Given the description of an element on the screen output the (x, y) to click on. 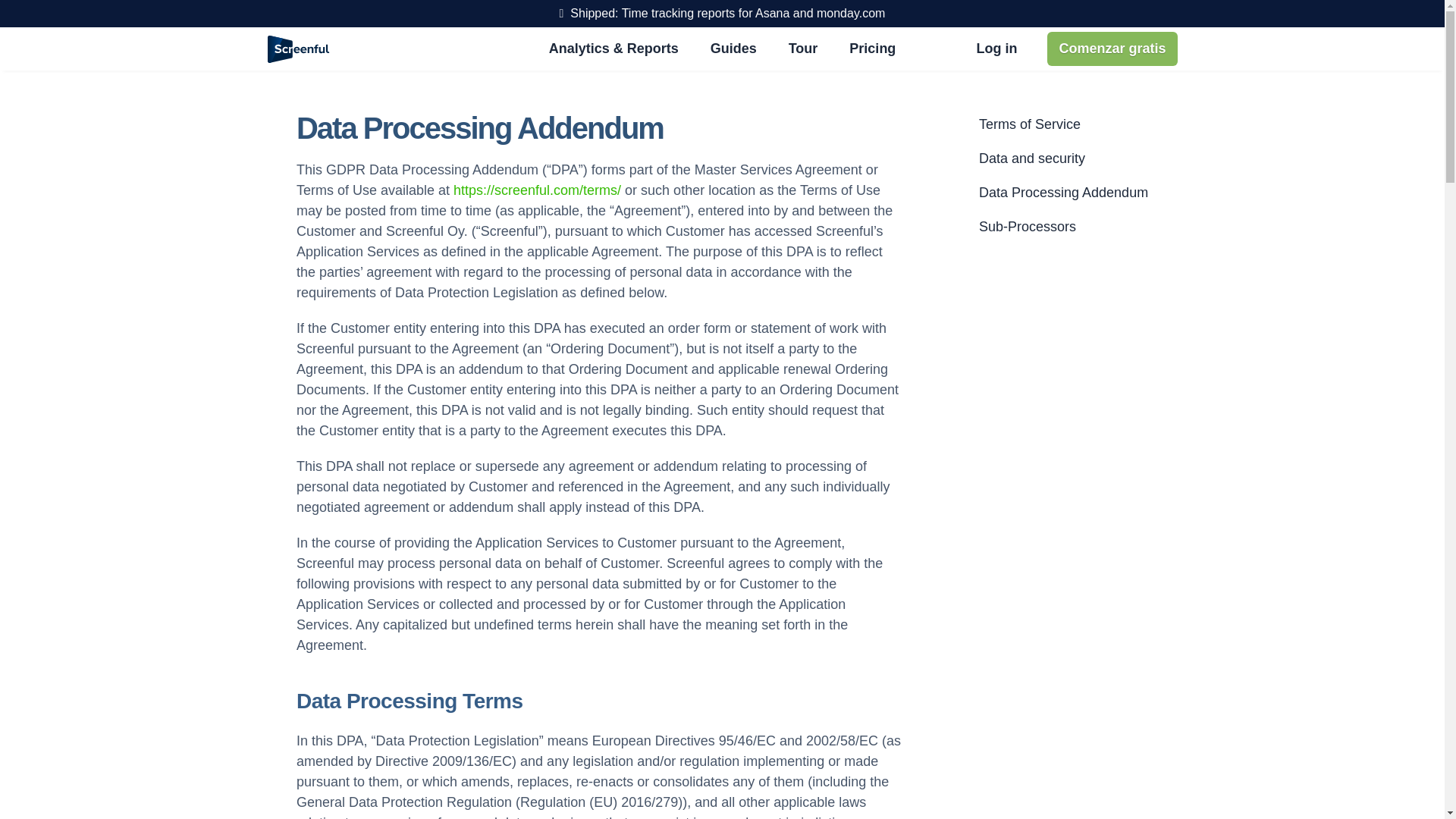
Sub-Processors (1026, 226)
Data Processing Terms (409, 700)
Pricing (872, 49)
Log in (996, 49)
Data and security (1031, 158)
Tour (802, 49)
Terms of Service (1029, 124)
Comenzar gratis (1111, 48)
Data Processing Addendum (1063, 192)
Guides (733, 49)
